Given the description of an element on the screen output the (x, y) to click on. 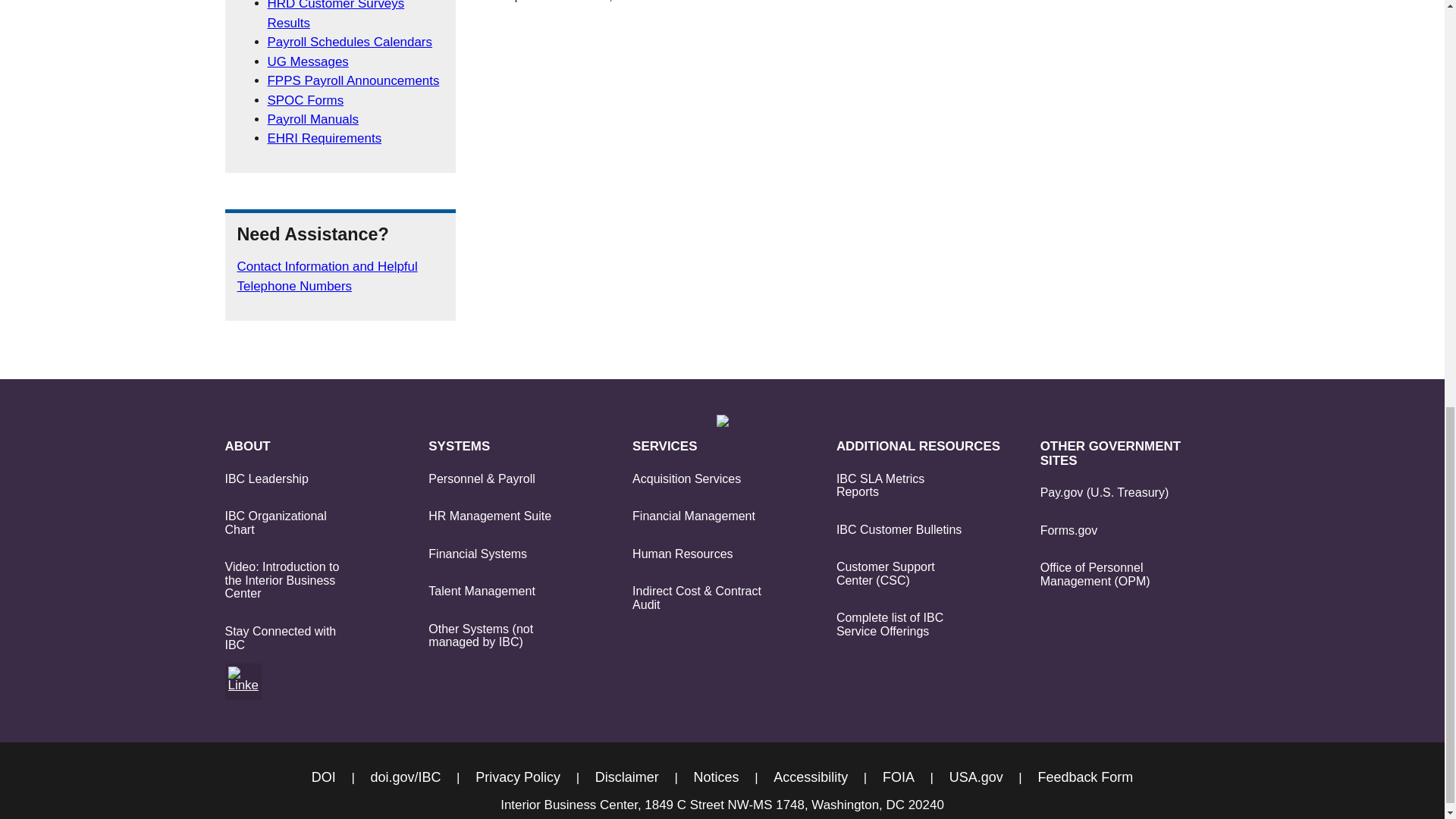
FPPS Payroll Announcements (352, 80)
Thursday, March 23, 2023 - 11:16 (601, 1)
SPOC Forms (304, 100)
Payroll Schedules Calendars (348, 42)
UG Messages (306, 61)
HRD Customer Surveys Results (335, 14)
Stay Connected with the Interior Business Center (242, 679)
